Given the description of an element on the screen output the (x, y) to click on. 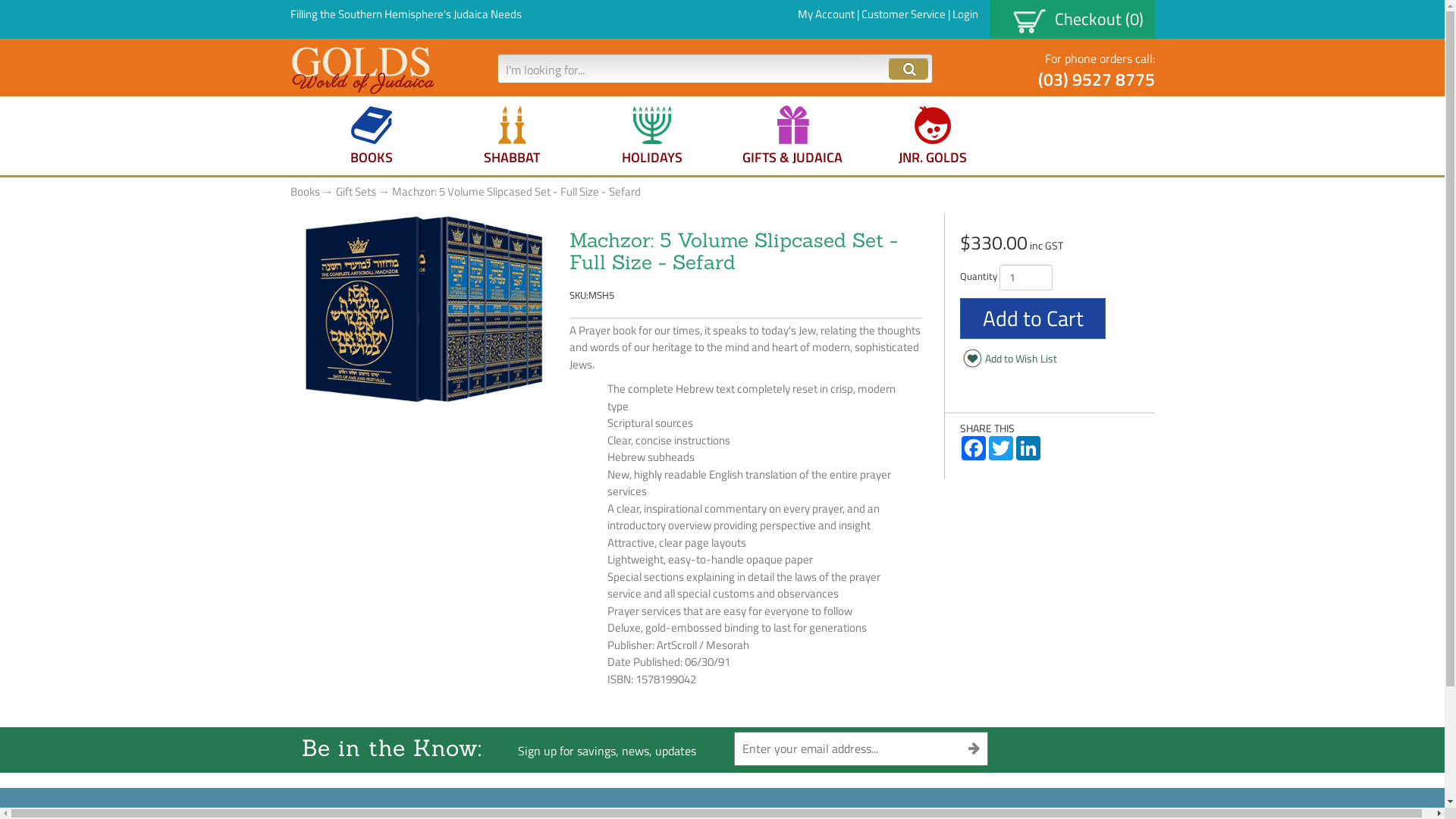
Click Go to Submit Element type: hover (908, 68)
HOLIDAYS Element type: text (651, 135)
Twitter Element type: text (1000, 448)
Add to Wish List Element type: text (1013, 358)
Books Element type: text (304, 191)
Login Element type: text (965, 13)
Customer Service Element type: text (903, 13)
Facebook Element type: text (973, 448)
JNR. GOLDS Element type: text (932, 135)
BOOKS Element type: text (370, 135)
Add to Cart Element type: text (1032, 318)
Checkout (0) Element type: text (1077, 18)
GIFTS & JUDAICA Element type: text (792, 135)
My Account Element type: text (825, 13)
Gift Sets Element type: text (355, 191)
SHABBAT Element type: text (512, 135)
LinkedIn Element type: text (1027, 448)
